Given the description of an element on the screen output the (x, y) to click on. 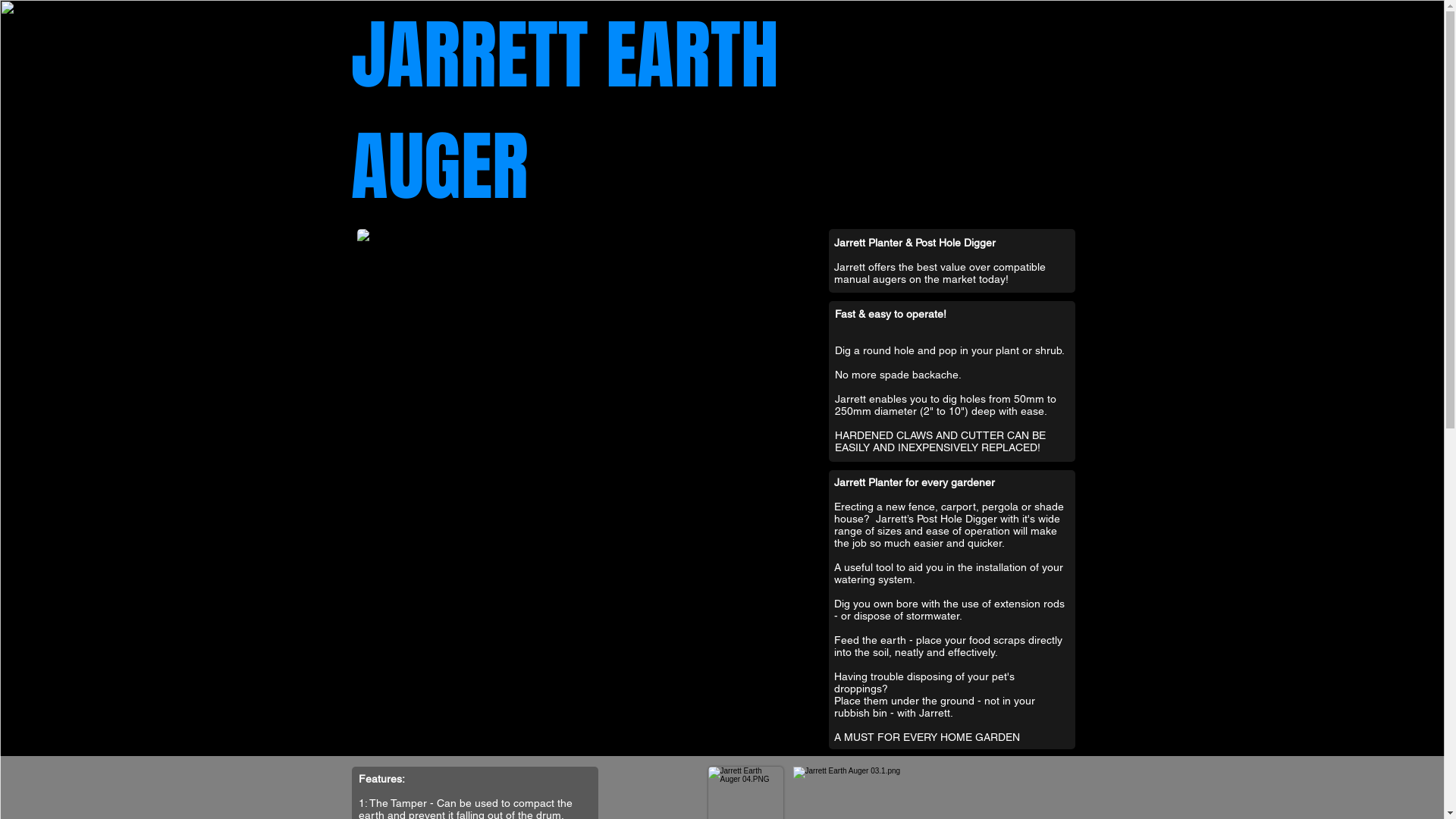
brian.clutterham@outlook.com Element type: text (1195, 84)
